Given the description of an element on the screen output the (x, y) to click on. 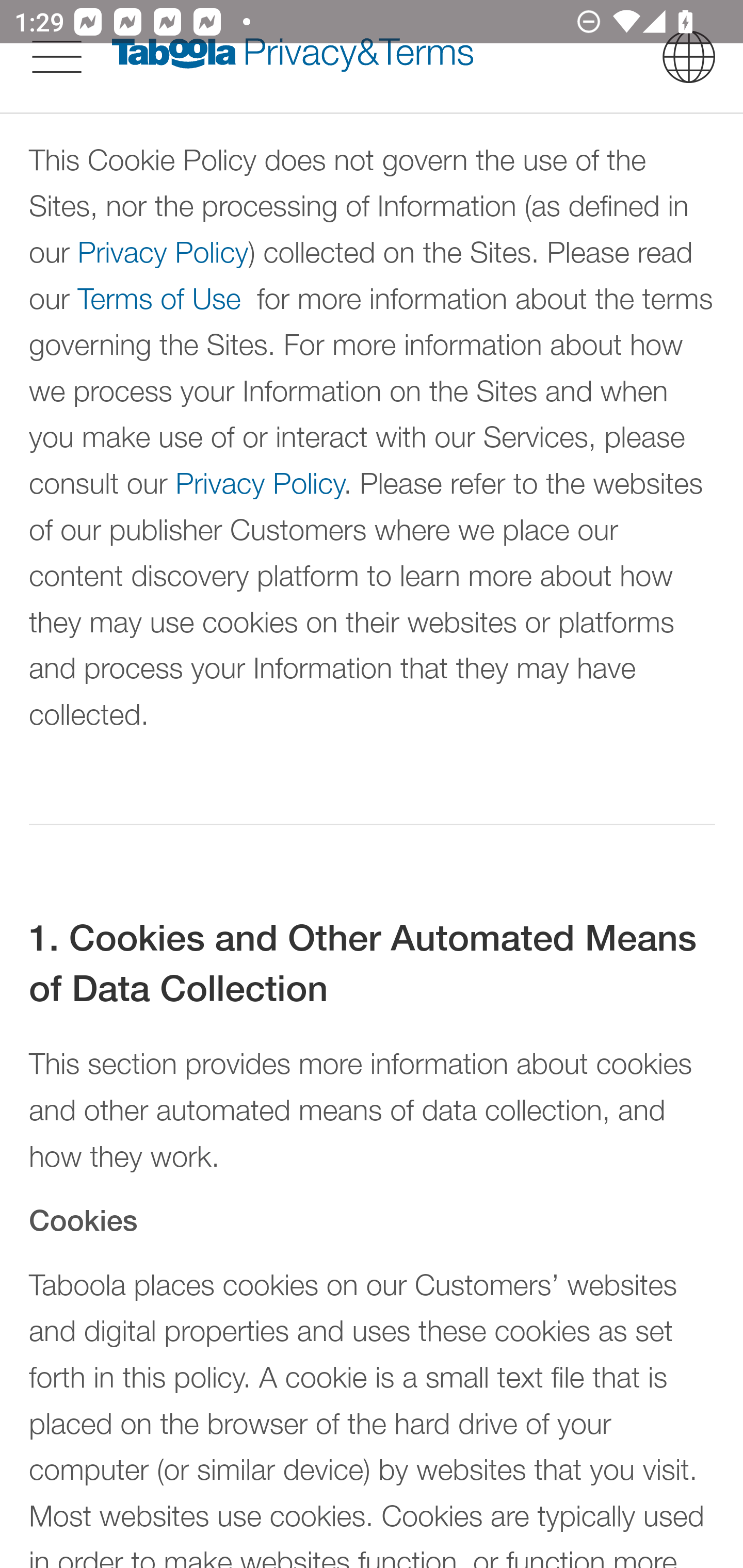
Taboola Privacy & Terms Logo (292, 56)
English (688, 56)
Privacy Policy (161, 253)
Terms of Use (158, 300)
Privacy Policy (259, 483)
